Given the description of an element on the screen output the (x, y) to click on. 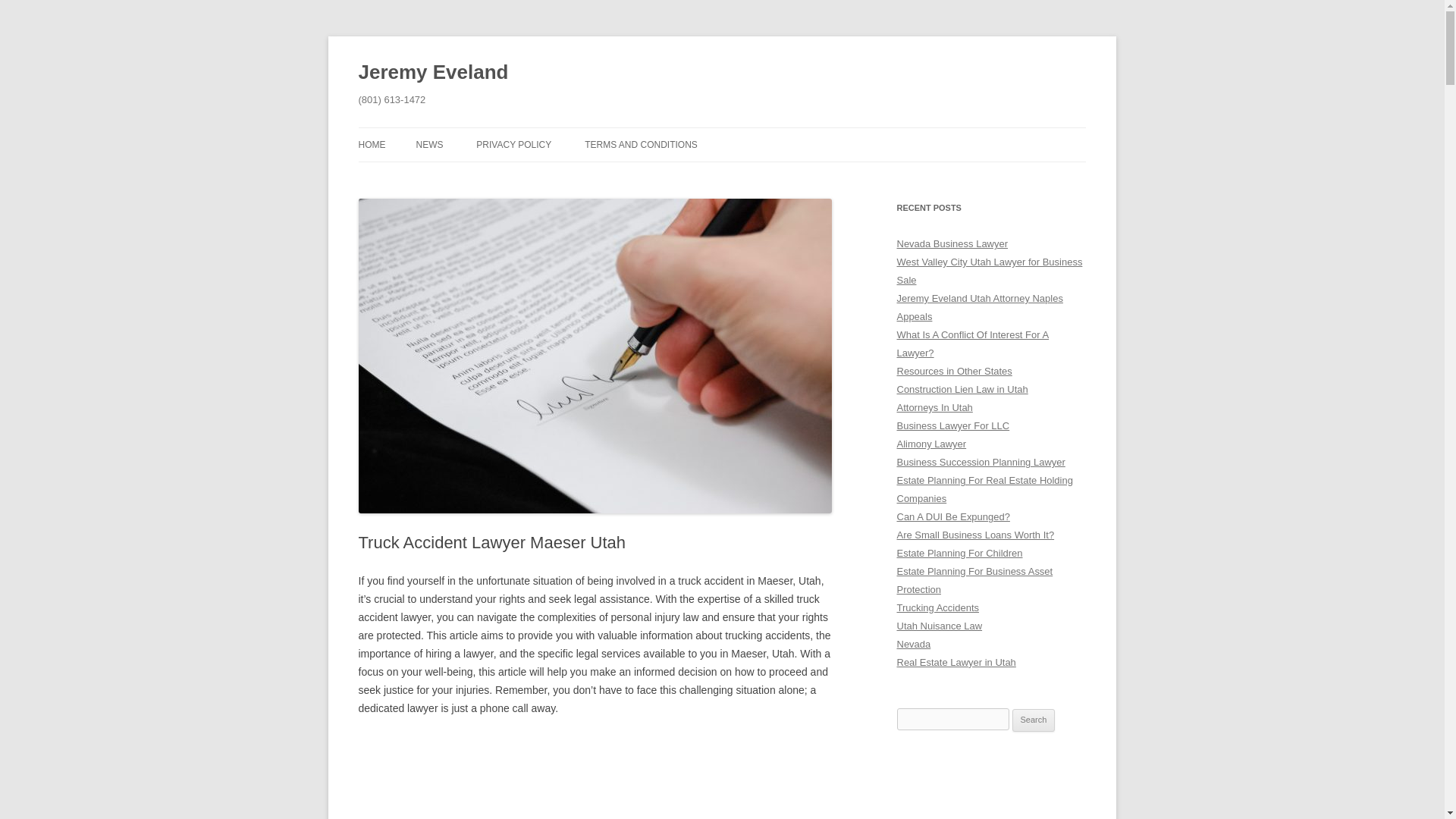
Attorneys In Utah (934, 407)
West Valley City Utah Lawyer for Business Sale (988, 270)
Business Lawyer For LLC (952, 425)
Can A DUI Be Expunged? (952, 516)
Real Estate Lawyer in Utah (955, 662)
Estate Planning For Real Estate Holding Companies (983, 489)
Trucking Accidents (937, 607)
Estate Planning For Children (959, 552)
What Is A Conflict Of Interest For A Lawyer? (972, 343)
Nevada (913, 644)
Search (1033, 720)
Utah Nuisance Law (938, 625)
Nevada Business Lawyer (951, 243)
Are Small Business Loans Worth It? (975, 534)
Business Succession Planning Lawyer (980, 461)
